Given the description of an element on the screen output the (x, y) to click on. 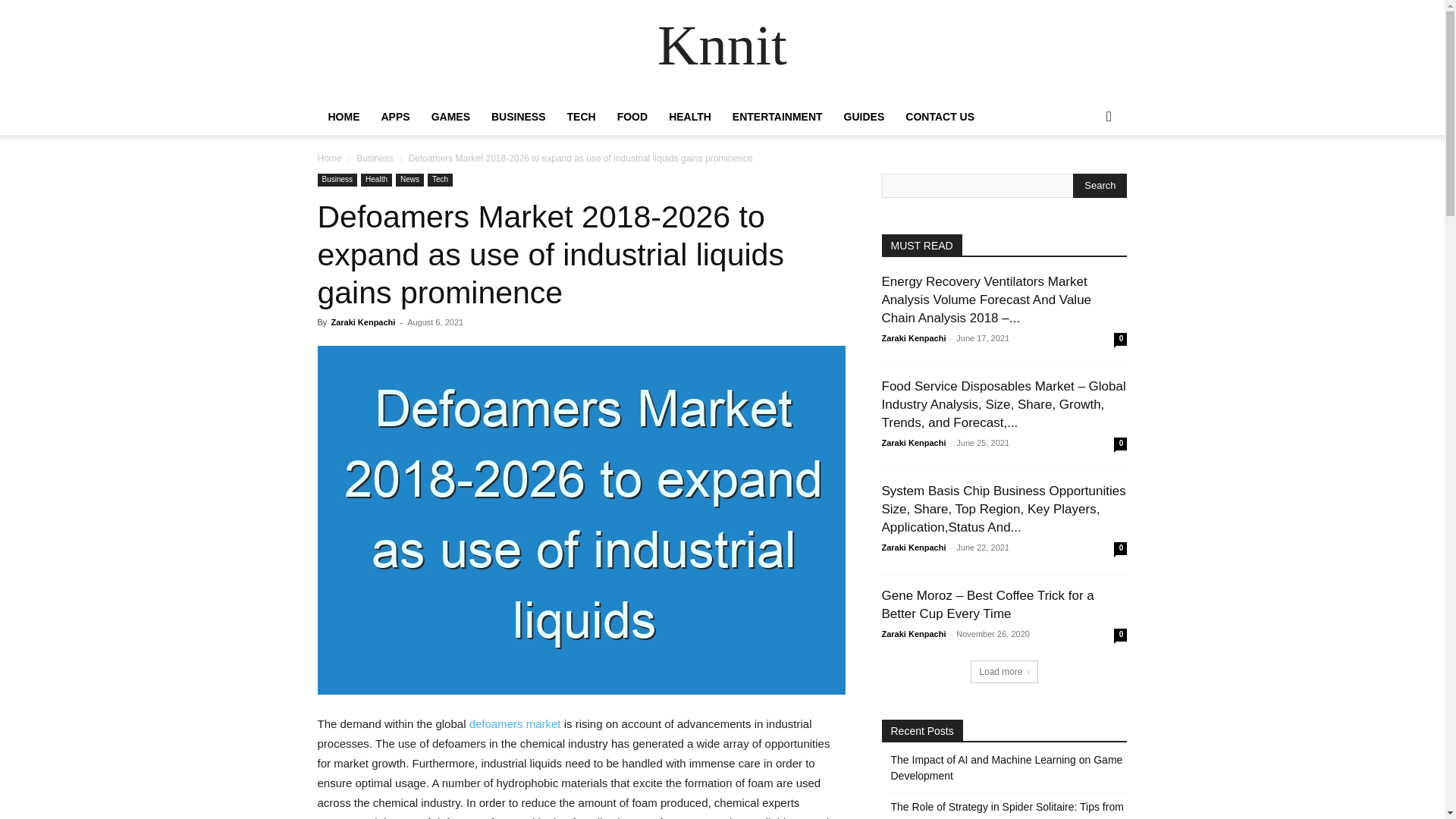
Search (1085, 177)
APPS (394, 116)
defoamers market (514, 723)
Knnit (722, 50)
View all posts in Business (374, 158)
HEALTH (690, 116)
GUIDES (863, 116)
Tech (440, 179)
ENTERTAINMENT (777, 116)
